Given the description of an element on the screen output the (x, y) to click on. 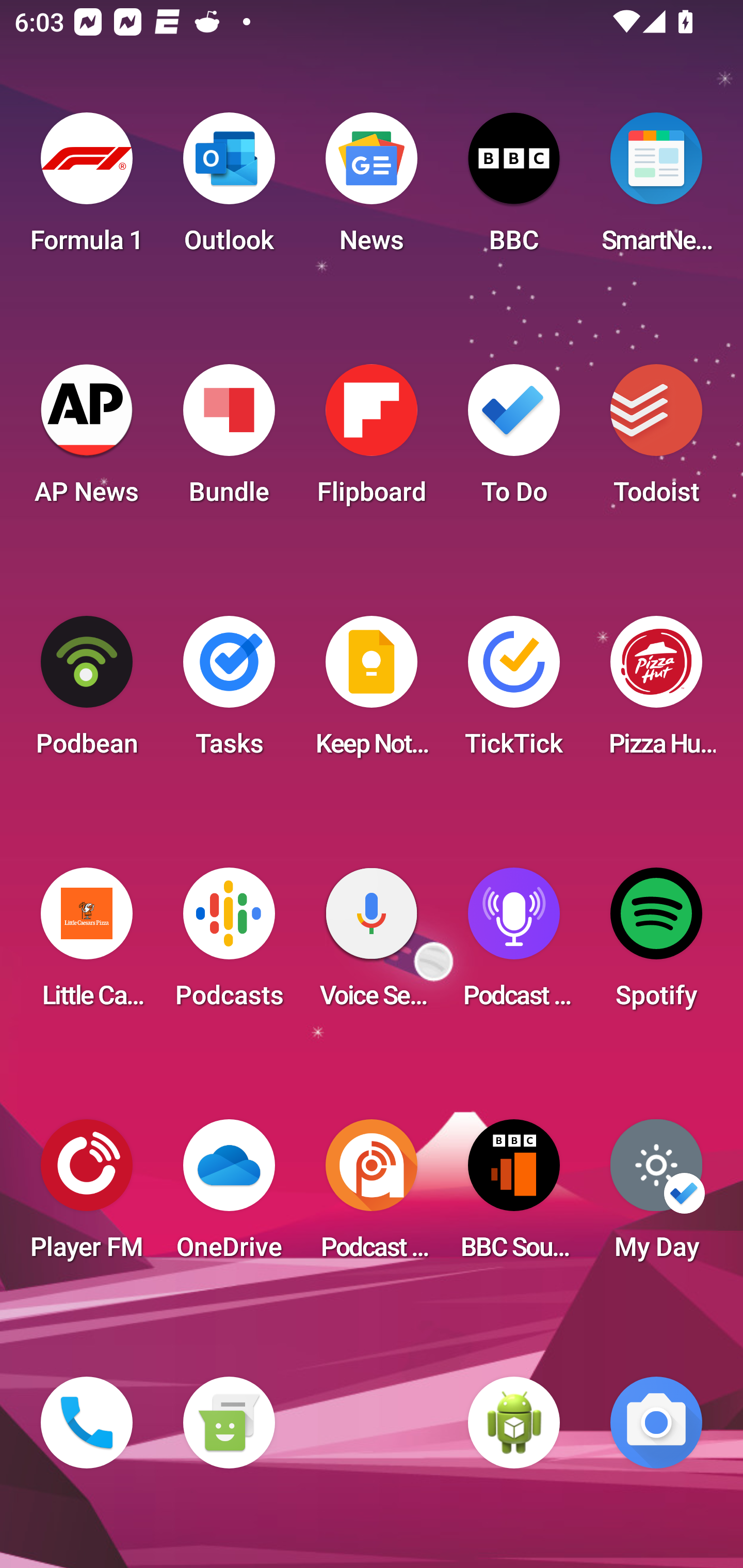
Formula 1 (86, 188)
Outlook (228, 188)
News (371, 188)
BBC (513, 188)
SmartNews (656, 188)
AP News (86, 440)
Bundle (228, 440)
Flipboard (371, 440)
To Do (513, 440)
Todoist (656, 440)
Podbean (86, 692)
Tasks (228, 692)
Keep Notes (371, 692)
TickTick (513, 692)
Pizza Hut HK & Macau (656, 692)
Little Caesars Pizza (86, 943)
Podcasts (228, 943)
Voice Search (371, 943)
Podcast Player (513, 943)
Spotify (656, 943)
Player FM (86, 1195)
OneDrive (228, 1195)
Podcast Addict (371, 1195)
BBC Sounds (513, 1195)
My Day (656, 1195)
Phone (86, 1422)
Messaging (228, 1422)
WebView Browser Tester (513, 1422)
Camera (656, 1422)
